Given the description of an element on the screen output the (x, y) to click on. 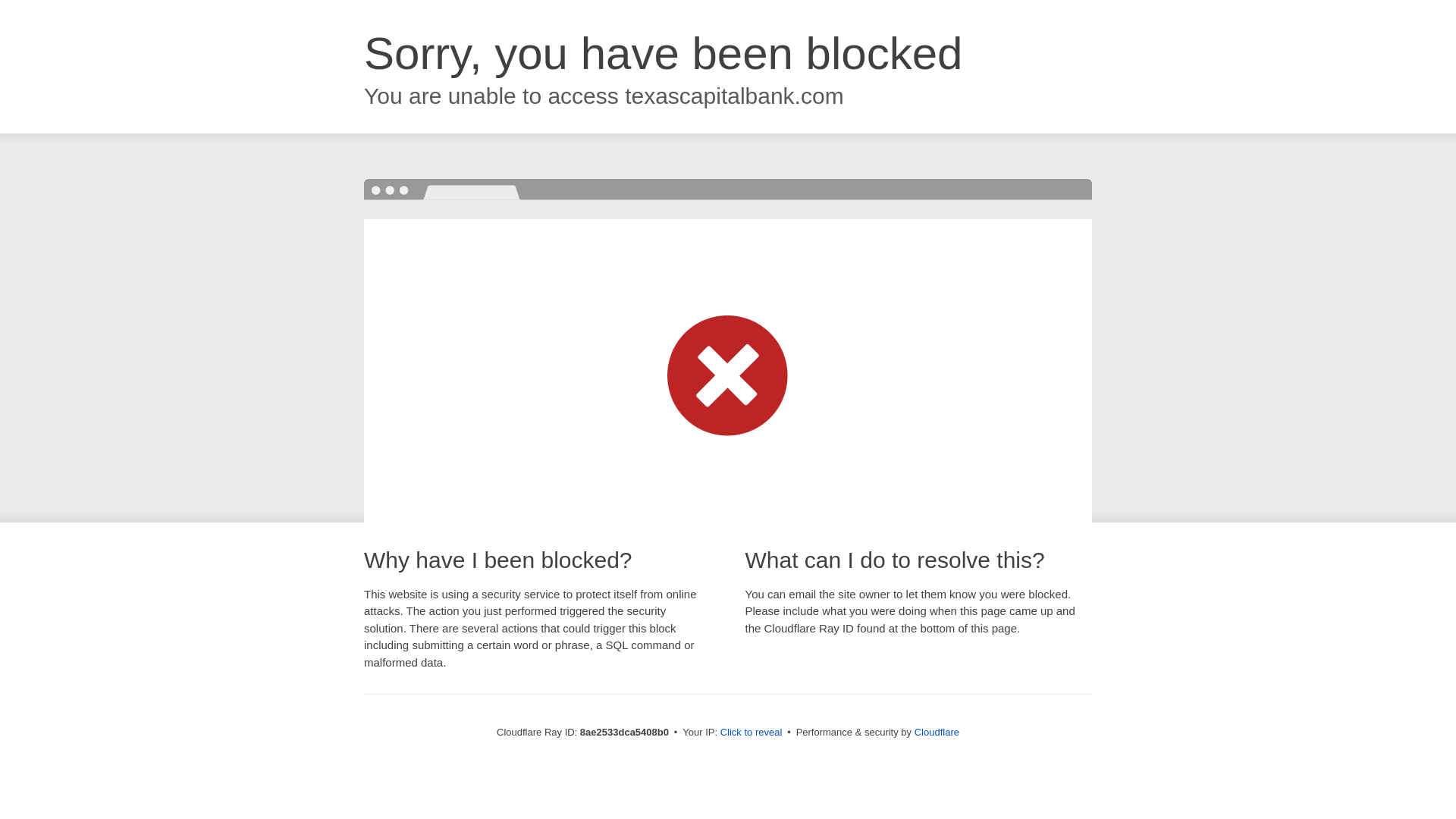
Cloudflare (936, 731)
Click to reveal (751, 732)
